Given the description of an element on the screen output the (x, y) to click on. 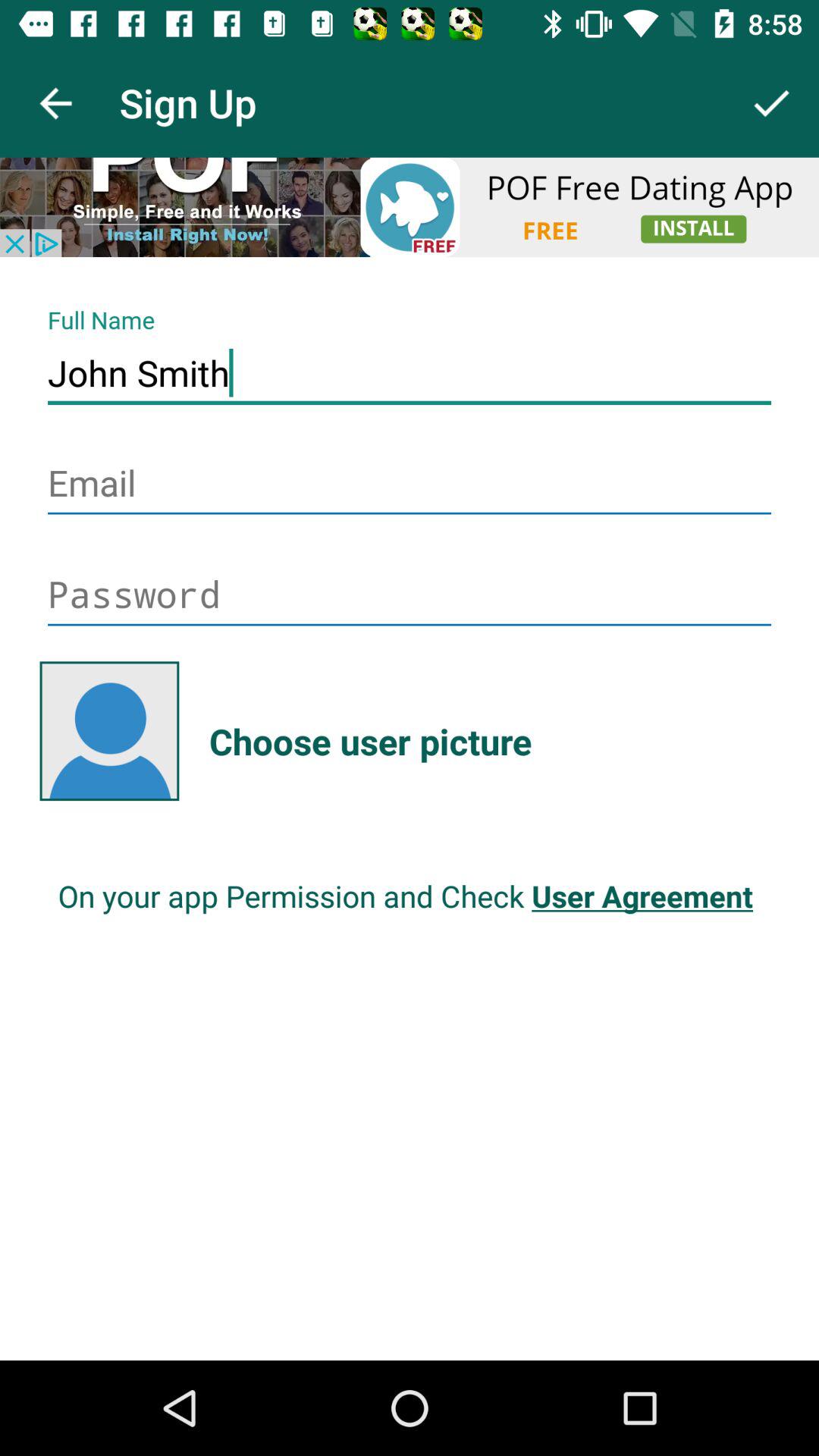
enter email address (409, 485)
